Given the description of an element on the screen output the (x, y) to click on. 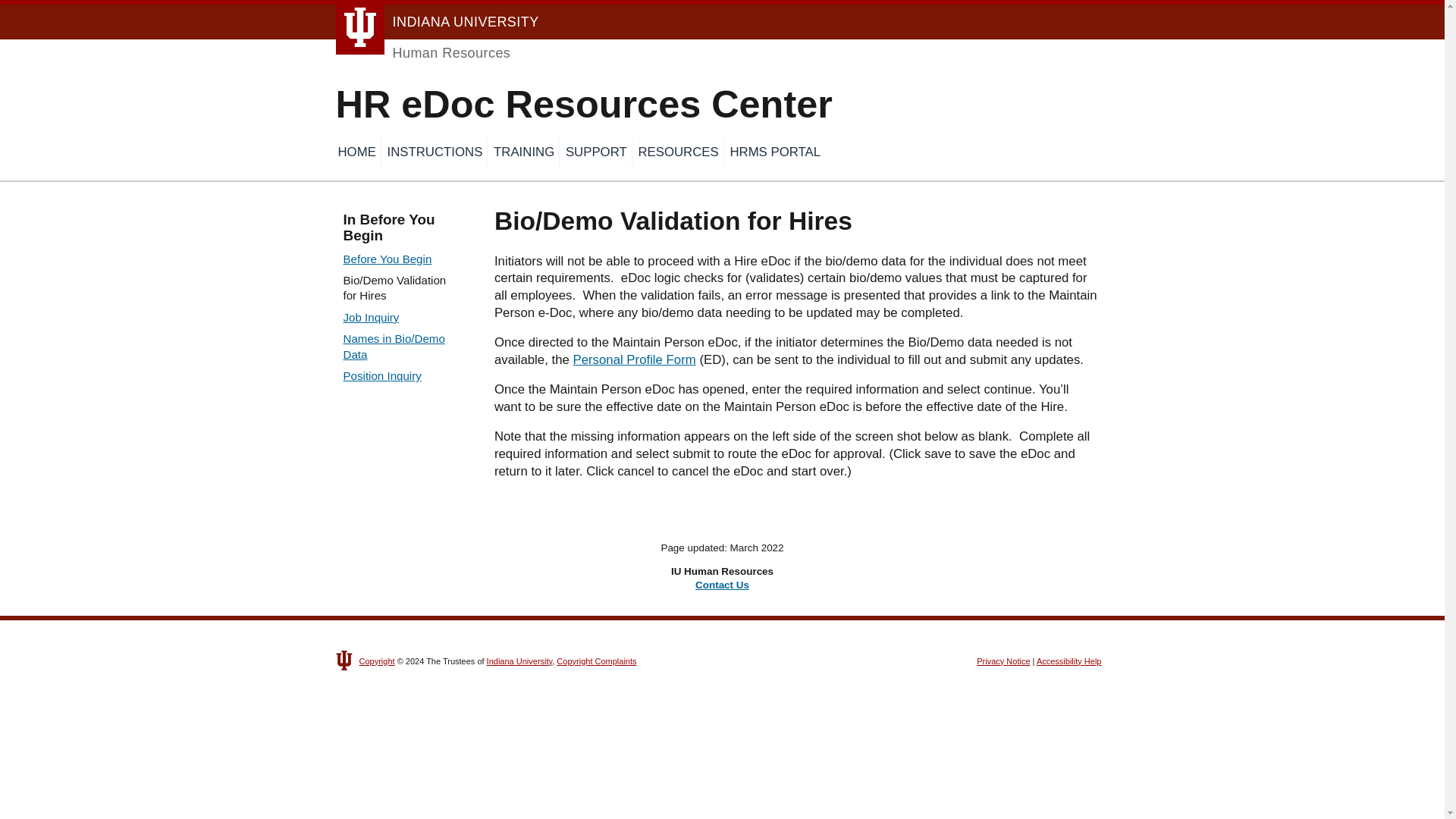
Privacy Notice (1002, 660)
Copyright (376, 660)
Position Inquiry (381, 375)
HRMS PORTAL (775, 152)
IU Human Resources (422, 53)
Job Inquiry (370, 317)
Personal Profile Form (633, 359)
Before You Begin (386, 258)
Accessibility Help (1069, 660)
Indiana University (519, 660)
HOME (357, 152)
Indiana University (436, 21)
SUPPORT (597, 152)
RESOURCES (678, 152)
Contact Us (722, 584)
